Given the description of an element on the screen output the (x, y) to click on. 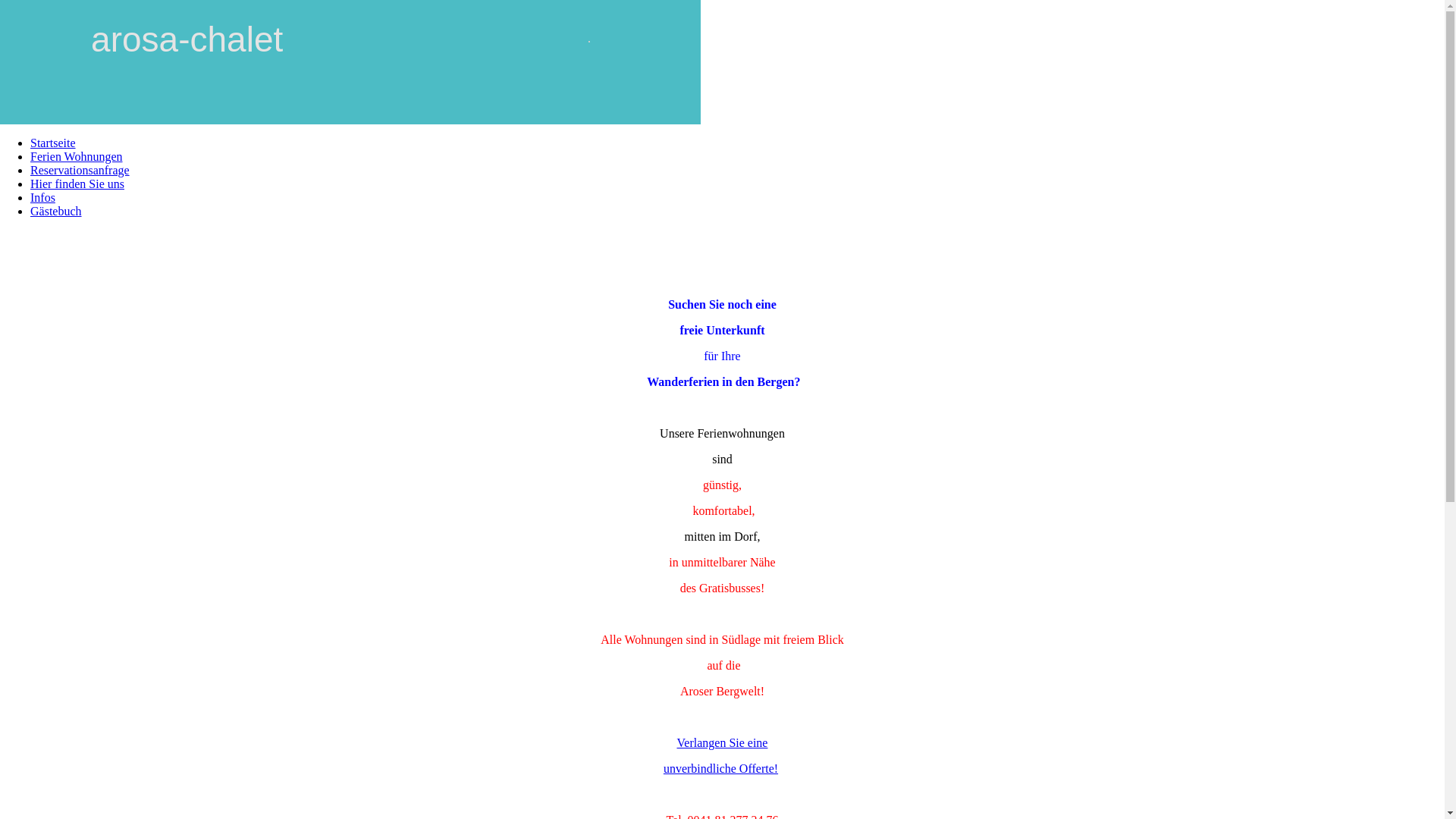
Hier finden Sie uns Element type: text (77, 183)
Ferien Wohnungen Element type: text (76, 156)
Infos Element type: text (42, 197)
Reservationsanfrage Element type: text (79, 169)
unverbindliche Offerte! Element type: text (720, 768)
Verlangen Sie eine Element type: text (722, 742)
Startseite Element type: text (52, 142)
